Given the description of an element on the screen output the (x, y) to click on. 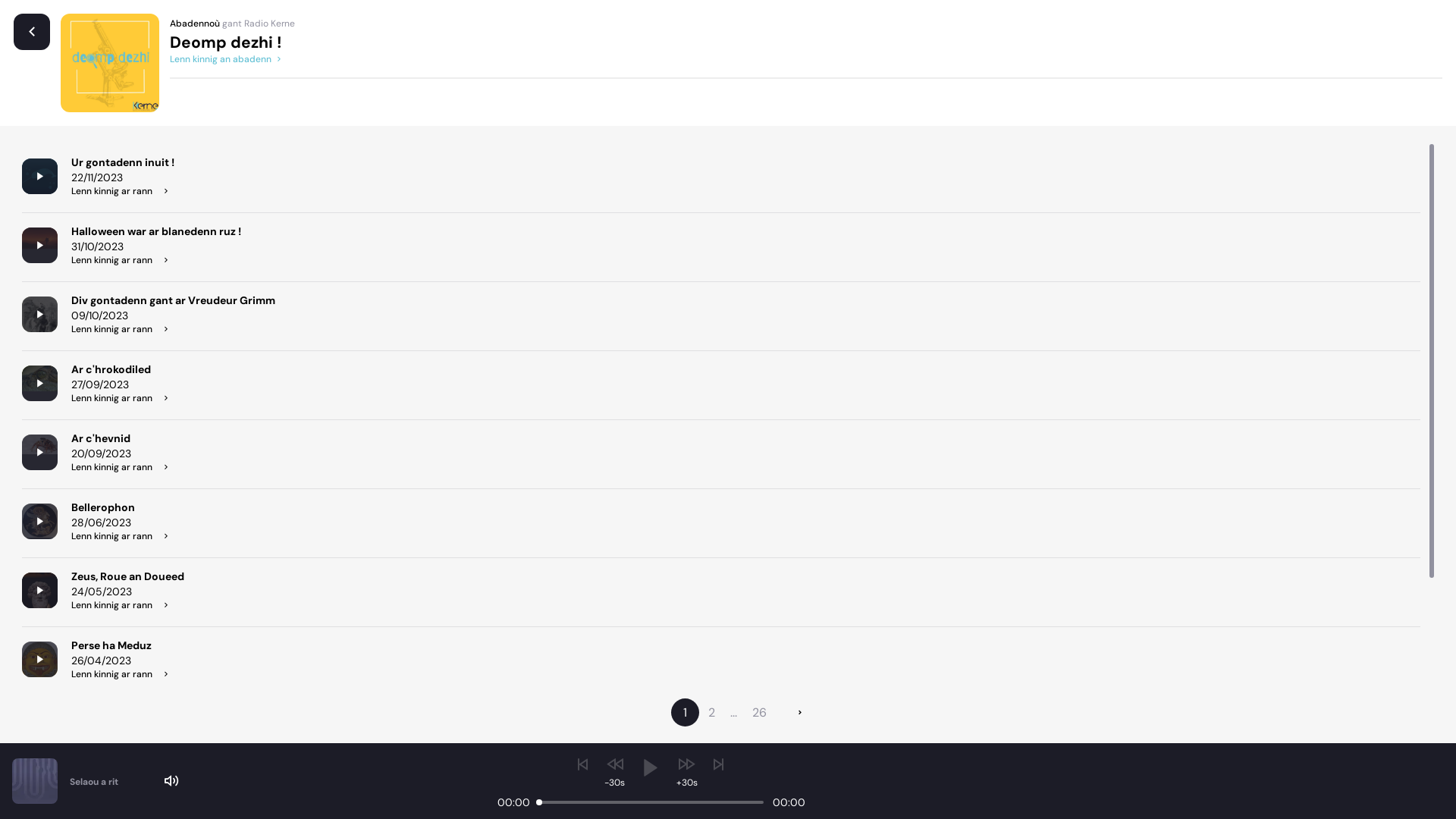
Lenn kinnig ar rann Element type: text (120, 398)
Lenn kinnig ar rann Element type: text (120, 812)
Lenn kinnig ar rann Element type: text (173, 329)
Ur gontadenn inuit ! Element type: text (122, 161)
Ar c'hevnid Element type: text (120, 437)
26 Element type: text (759, 712)
Zeus, Roue an Doueed Element type: text (127, 575)
Halloween war ar blanedenn ruz ! Element type: text (156, 230)
Lenn kinnig ar rann Element type: text (156, 260)
Lenn kinnig an abadenn Element type: text (226, 59)
Lenn kinnig ar rann Element type: text (120, 467)
Ar c'hrokodiled Element type: text (120, 368)
Lenn kinnig ar rann Element type: text (120, 536)
Perse ha Meduz Element type: text (120, 644)
2 Element type: text (711, 712)
Lenn kinnig ar rann Element type: text (122, 191)
Lenn kinnig ar rann Element type: text (127, 605)
Bellerophon Element type: text (120, 506)
Lenn kinnig ar rann Element type: text (120, 674)
Lenn kinnig ar rann Element type: text (130, 743)
Div gontadenn gant ar Vreudeur Grimm Element type: text (173, 299)
1 Element type: text (685, 712)
Teze hag ar Minotaoros Element type: text (130, 713)
Ar plastik Element type: text (120, 782)
